Given the description of an element on the screen output the (x, y) to click on. 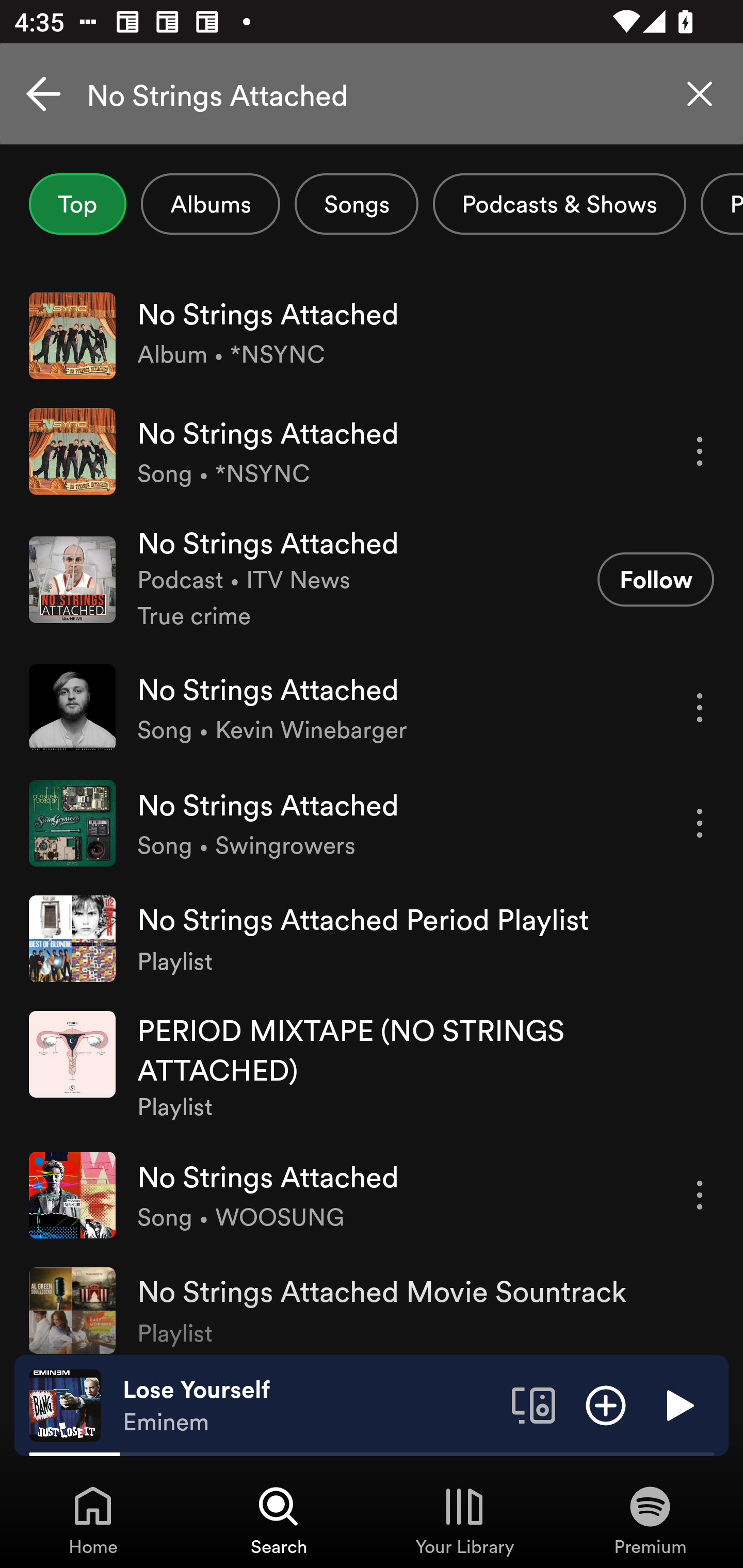
No Strings Attached (371, 93)
Cancel (43, 93)
Clear search query (699, 93)
Top (77, 203)
Albums (210, 203)
Songs (356, 203)
Podcasts & Shows (559, 203)
No Strings Attached Album • *NSYNC (371, 335)
More options for song No Strings Attached (699, 450)
Follow (655, 578)
More options for song No Strings Attached (699, 707)
More options for song No Strings Attached (699, 823)
No Strings Attached Period Playlist Playlist (371, 939)
PERIOD MIXTAPE (NO STRINGS ATTACHED) Playlist (371, 1066)
More options for song No Strings Attached (699, 1195)
No Strings Attached Movie Sountrack Playlist (371, 1303)
Lose Yourself Eminem (309, 1405)
The cover art of the currently playing track (64, 1404)
Connect to a device. Opens the devices menu (533, 1404)
Add item (605, 1404)
Play (677, 1404)
Home, Tab 1 of 4 Home Home (92, 1519)
Search, Tab 2 of 4 Search Search (278, 1519)
Your Library, Tab 3 of 4 Your Library Your Library (464, 1519)
Premium, Tab 4 of 4 Premium Premium (650, 1519)
